Given the description of an element on the screen output the (x, y) to click on. 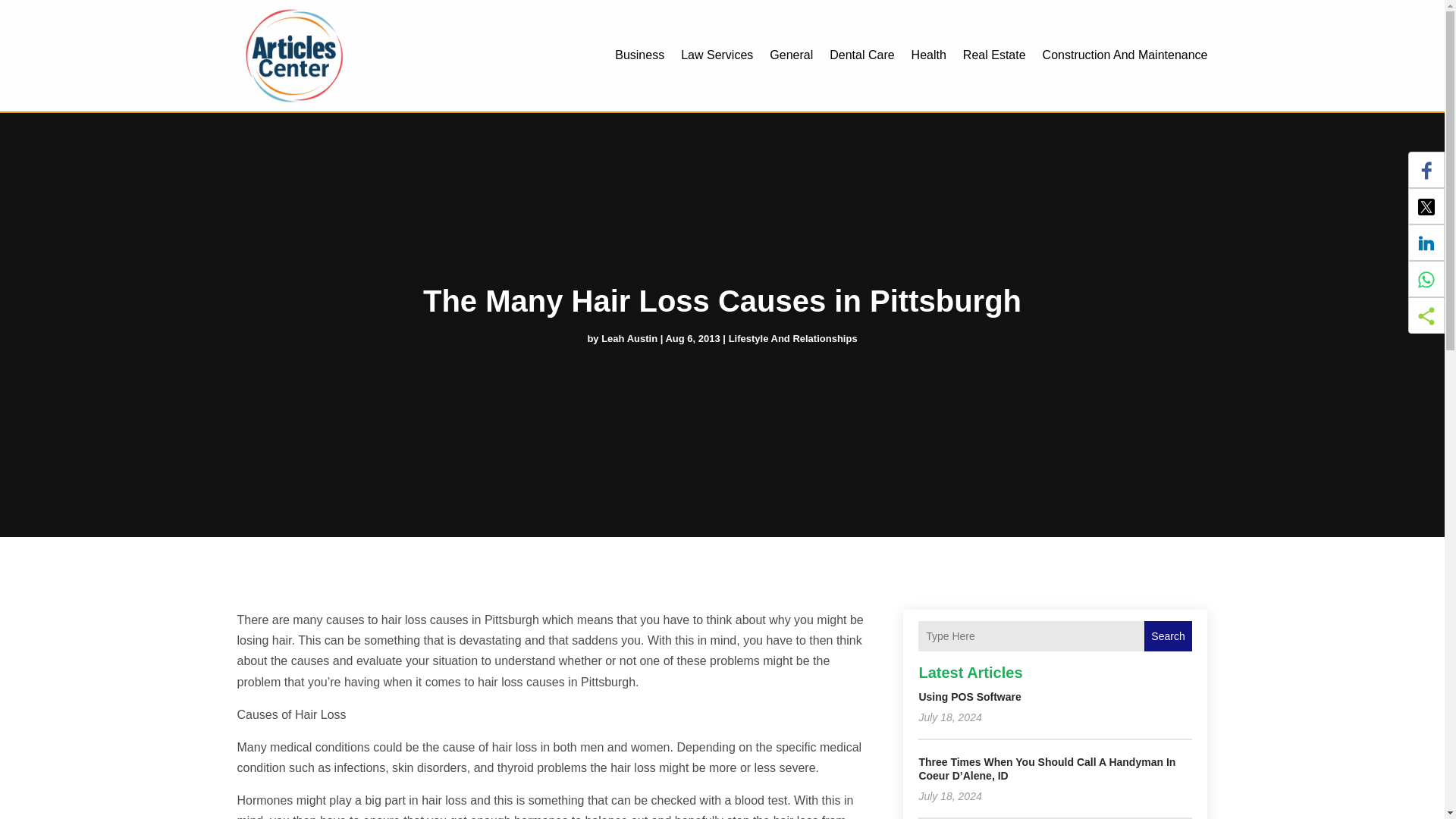
Posts by Leah Austin (629, 337)
Law Services (716, 55)
Lifestyle And Relationships (793, 337)
Business (638, 55)
Using POS Software (969, 696)
General (791, 55)
Search (1168, 635)
Dental Care (861, 55)
Real Estate (994, 55)
Leah Austin (629, 337)
Construction And Maintenance (1125, 55)
Health (928, 55)
